Given the description of an element on the screen output the (x, y) to click on. 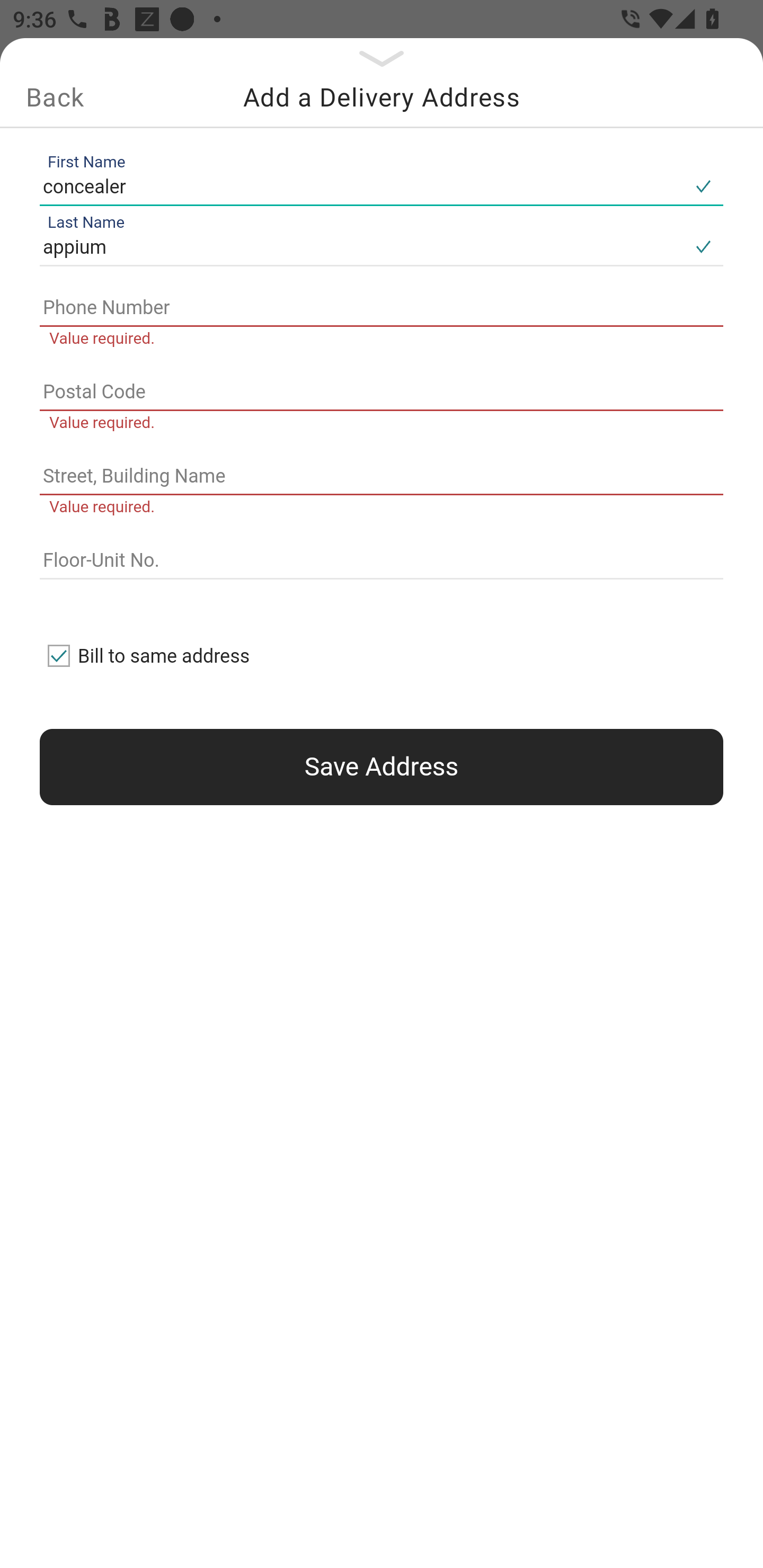
Back (54, 96)
Add a Delivery Address (381, 96)
concealer (361, 186)
appium (361, 247)
Save Address (381, 767)
